Given the description of an element on the screen output the (x, y) to click on. 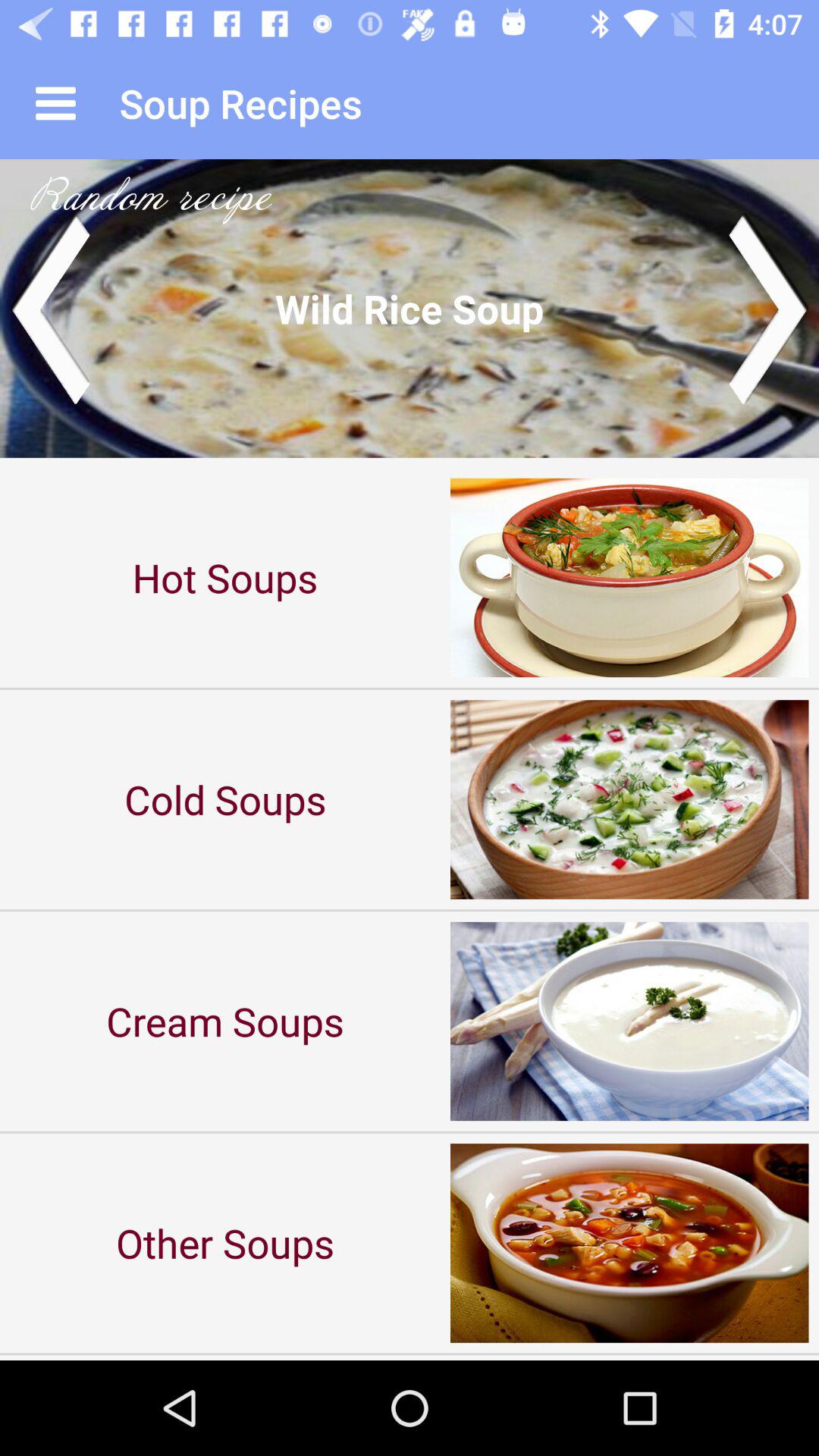
choose icon below the cold soups item (225, 1020)
